Given the description of an element on the screen output the (x, y) to click on. 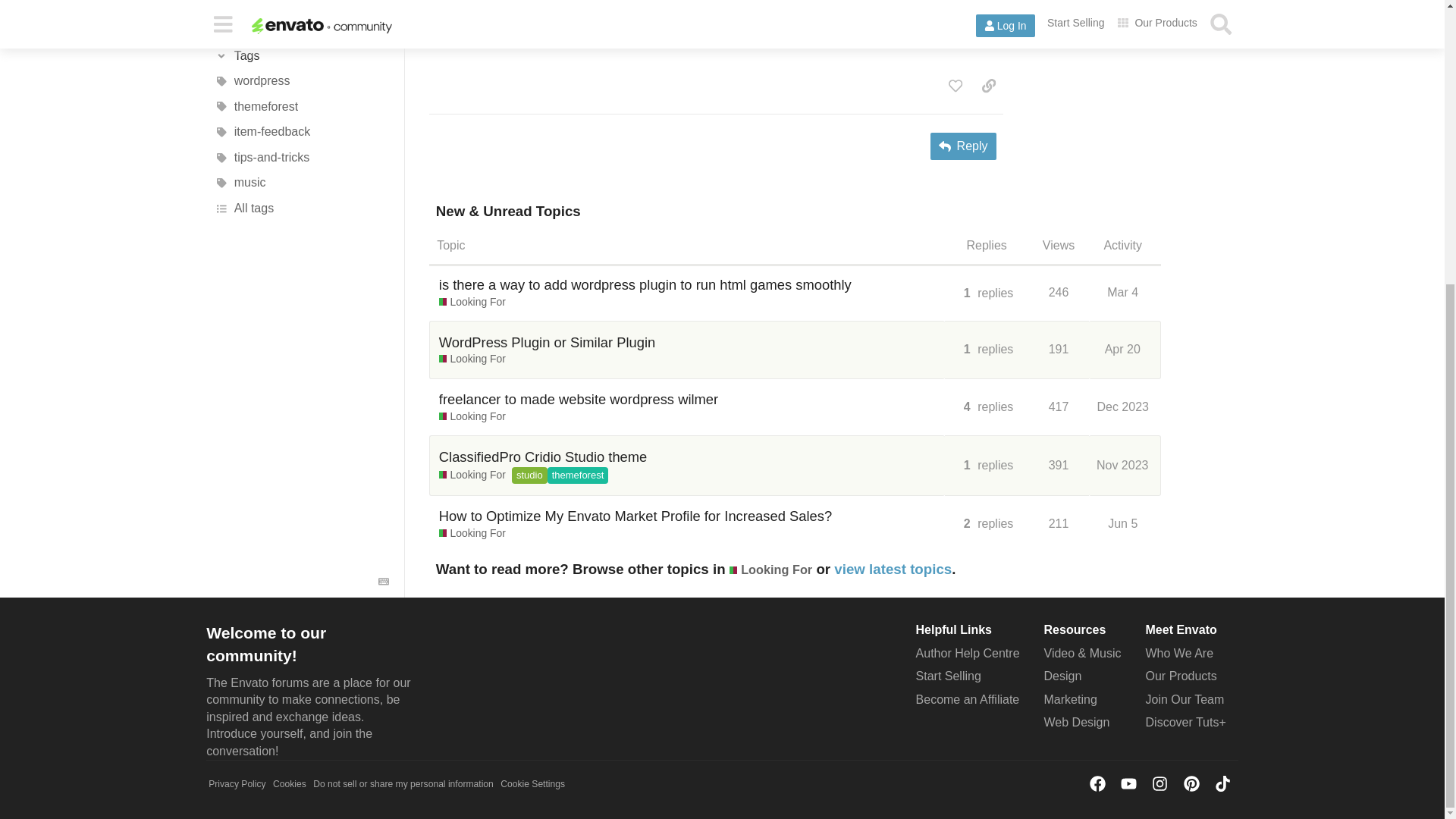
Reply (962, 145)
Keyboard Shortcuts (384, 375)
All tags (301, 7)
